Given the description of an element on the screen output the (x, y) to click on. 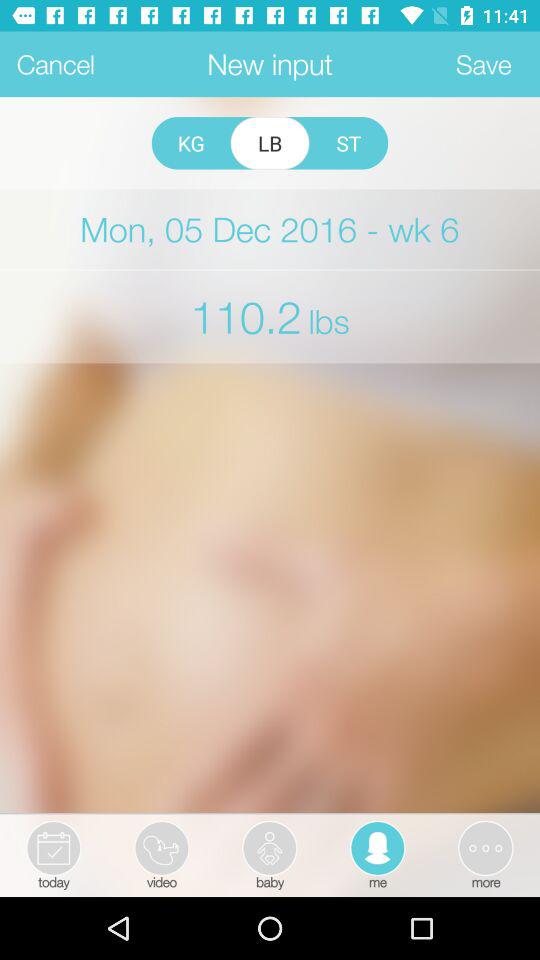
select more (484, 854)
button which is right to lb (348, 143)
click on baby icon (269, 848)
click on video option beside today option (161, 854)
